Given the description of an element on the screen output the (x, y) to click on. 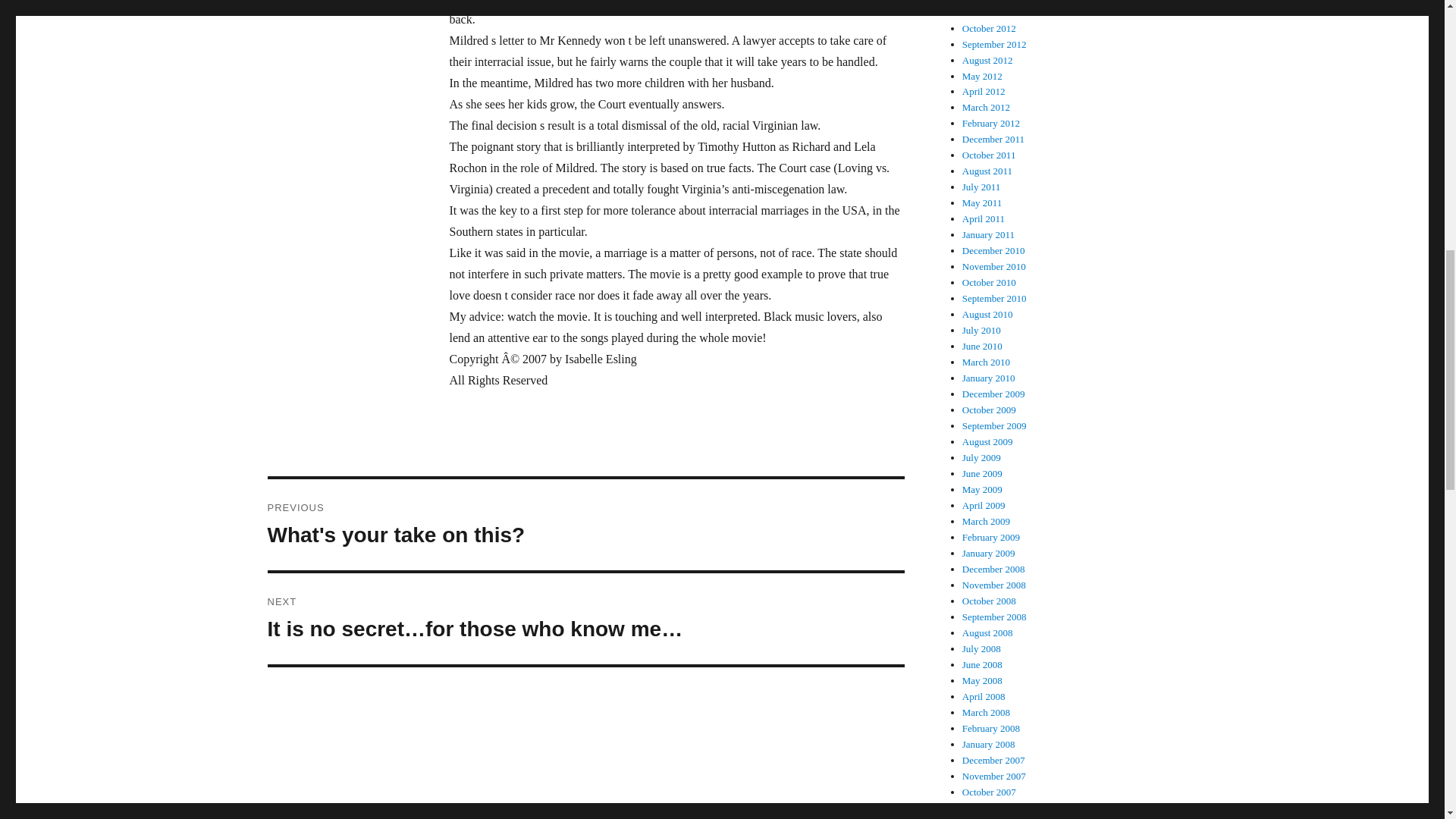
October 2011 (989, 154)
April 2011 (983, 218)
October 2012 (989, 28)
August 2011 (986, 170)
January 2011 (988, 234)
May 2011 (982, 202)
December 2012 (993, 1)
August 2012 (585, 524)
September 2012 (987, 60)
